Given the description of an element on the screen output the (x, y) to click on. 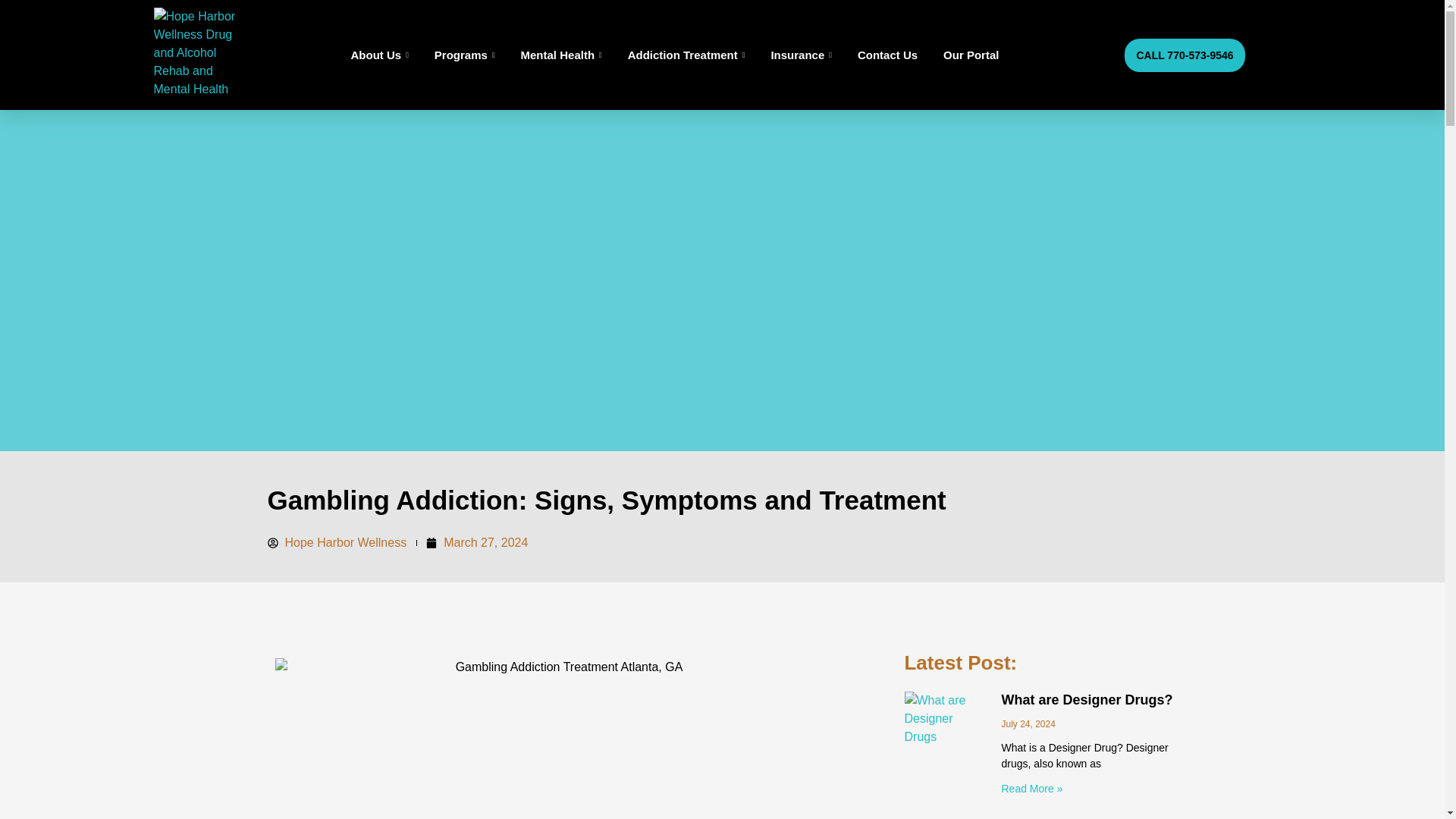
Mental Health (561, 54)
Addiction Treatment (686, 54)
About Us (379, 54)
hope-harbor-wellness (199, 54)
Programs (464, 54)
